Given the description of an element on the screen output the (x, y) to click on. 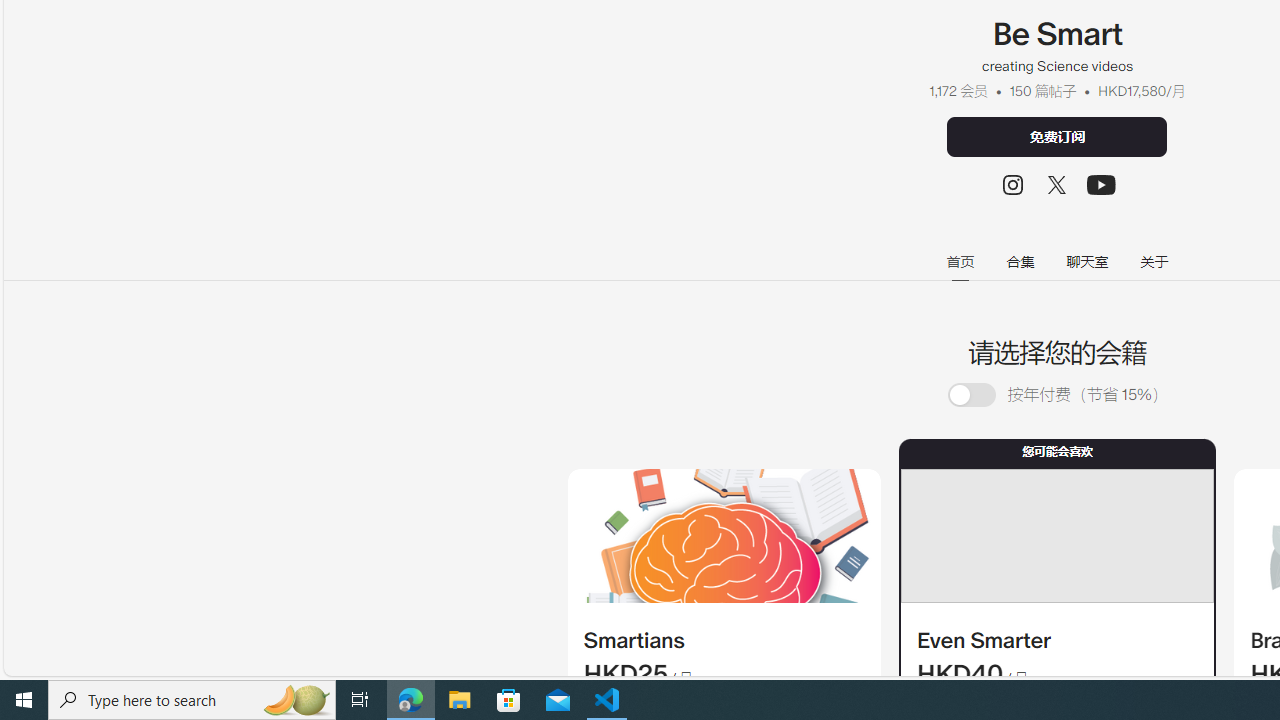
Loading (971, 395)
Class: sc-jrQzAO HeRcC sc-1b5vbhn-1 hqVCmM (1101, 184)
Class: sc-1a2jhmw-3 djwfLg (1056, 536)
Loading (982, 394)
